Given the description of an element on the screen output the (x, y) to click on. 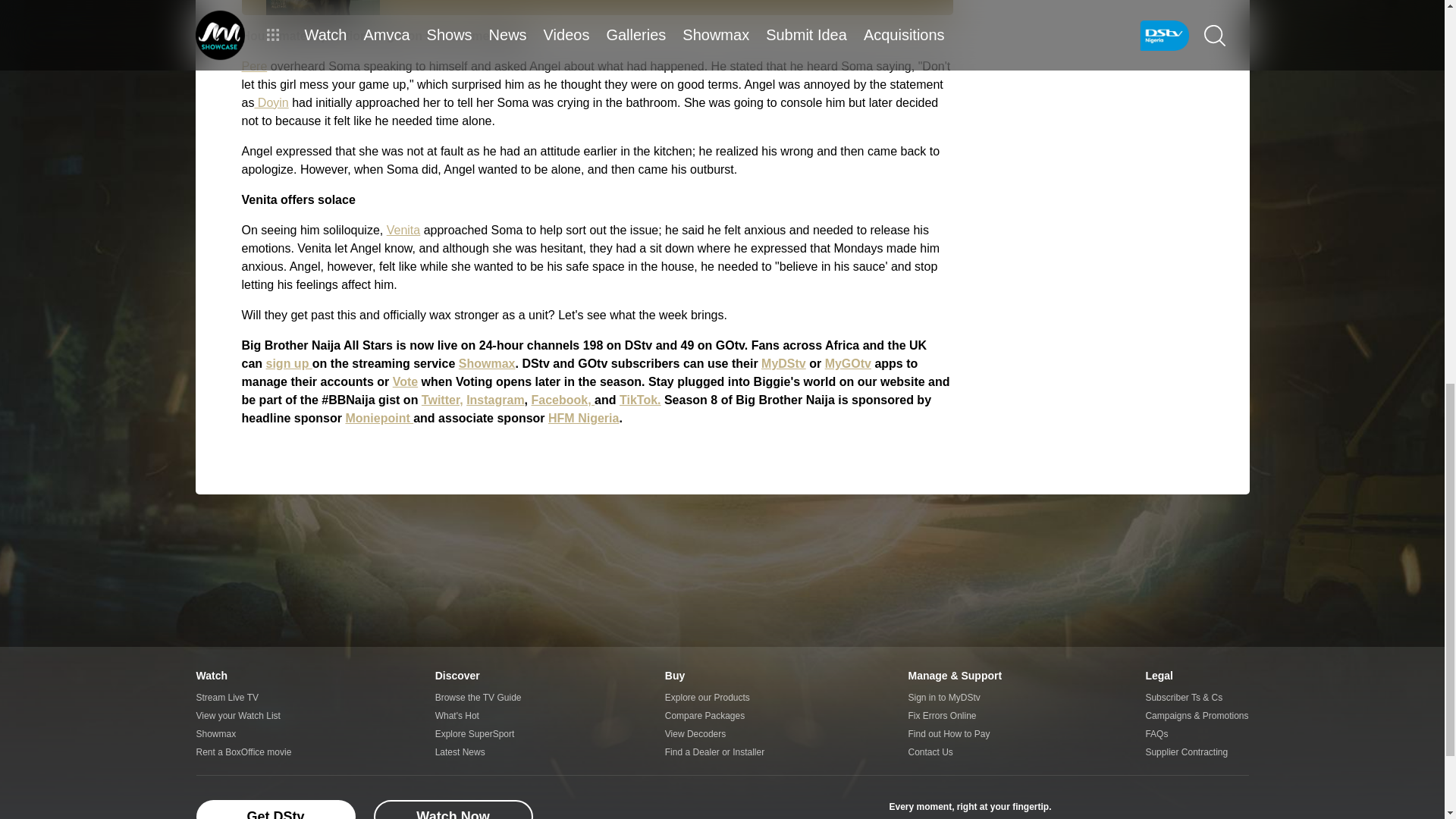
SuperSport (1228, 808)
Stream with DStv (1081, 808)
Showmax (243, 733)
Latest News (478, 751)
Instagram (494, 399)
Facebook,  (562, 399)
sign up  (289, 363)
Showmax (1180, 808)
Explore our Products (714, 697)
Showmax (486, 363)
